Given the description of an element on the screen output the (x, y) to click on. 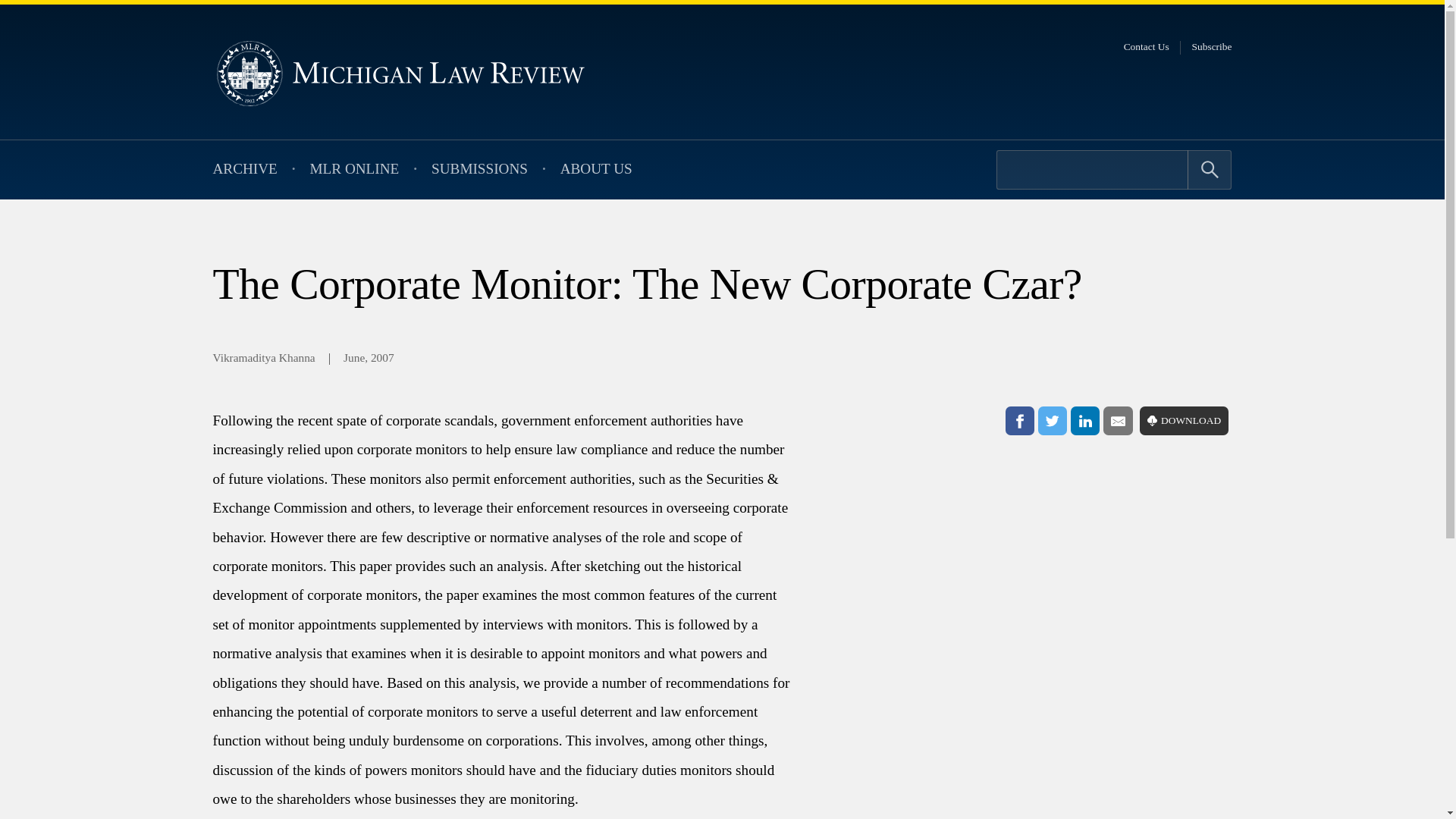
ARCHIVE (244, 169)
E-Mail (1117, 420)
DOWNLOAD (1184, 420)
Facebook (1019, 420)
Twitter (1052, 420)
ABOUT US (595, 169)
Subscribe (1211, 46)
LinkedIn (1084, 420)
Contact Us (1146, 46)
Search (1209, 169)
Search (1209, 169)
SUBMISSIONS (478, 169)
MLR ONLINE (354, 169)
